Given the description of an element on the screen output the (x, y) to click on. 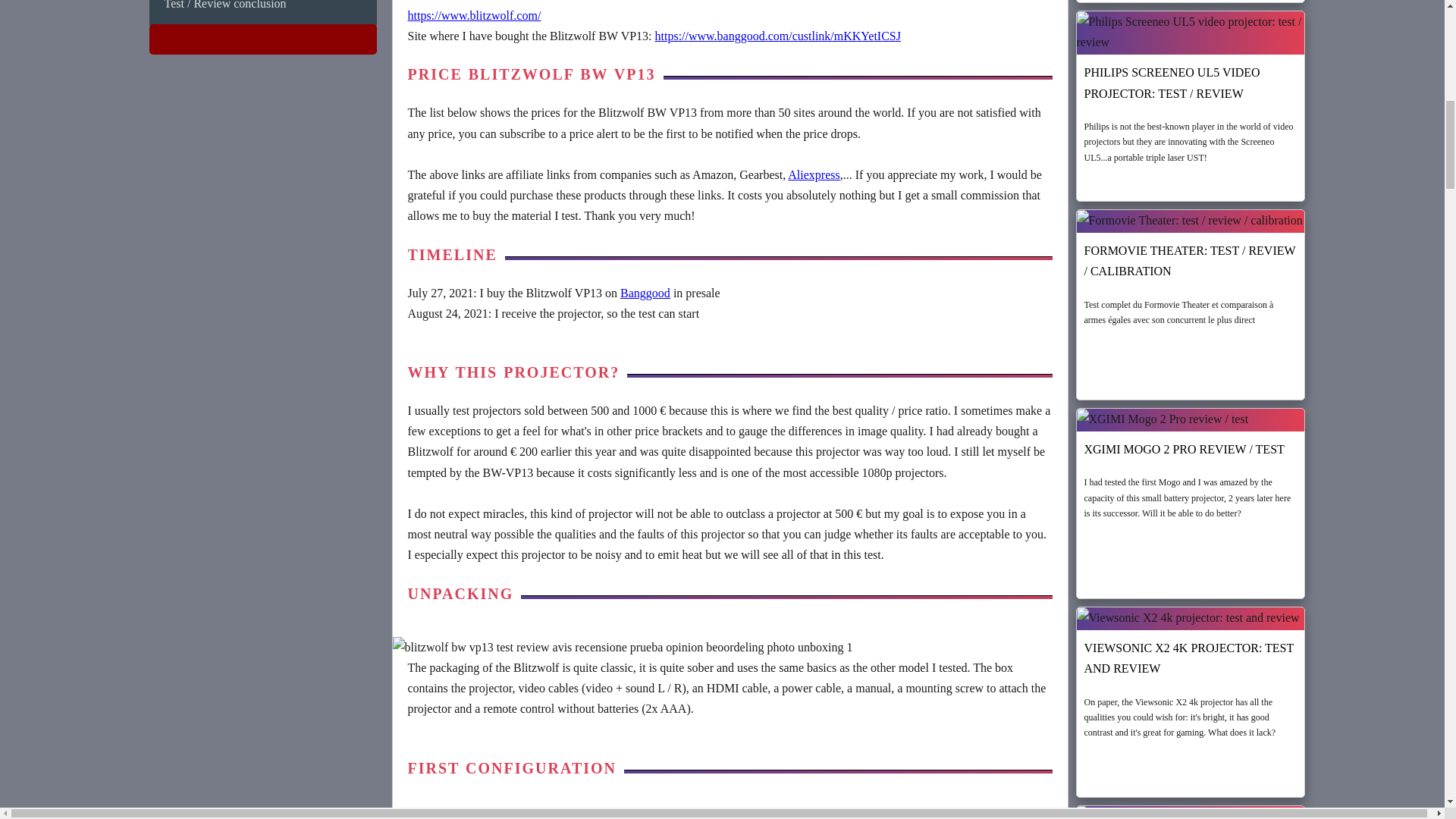
Aliexpress (813, 174)
Banggood (644, 292)
